Given the description of an element on the screen output the (x, y) to click on. 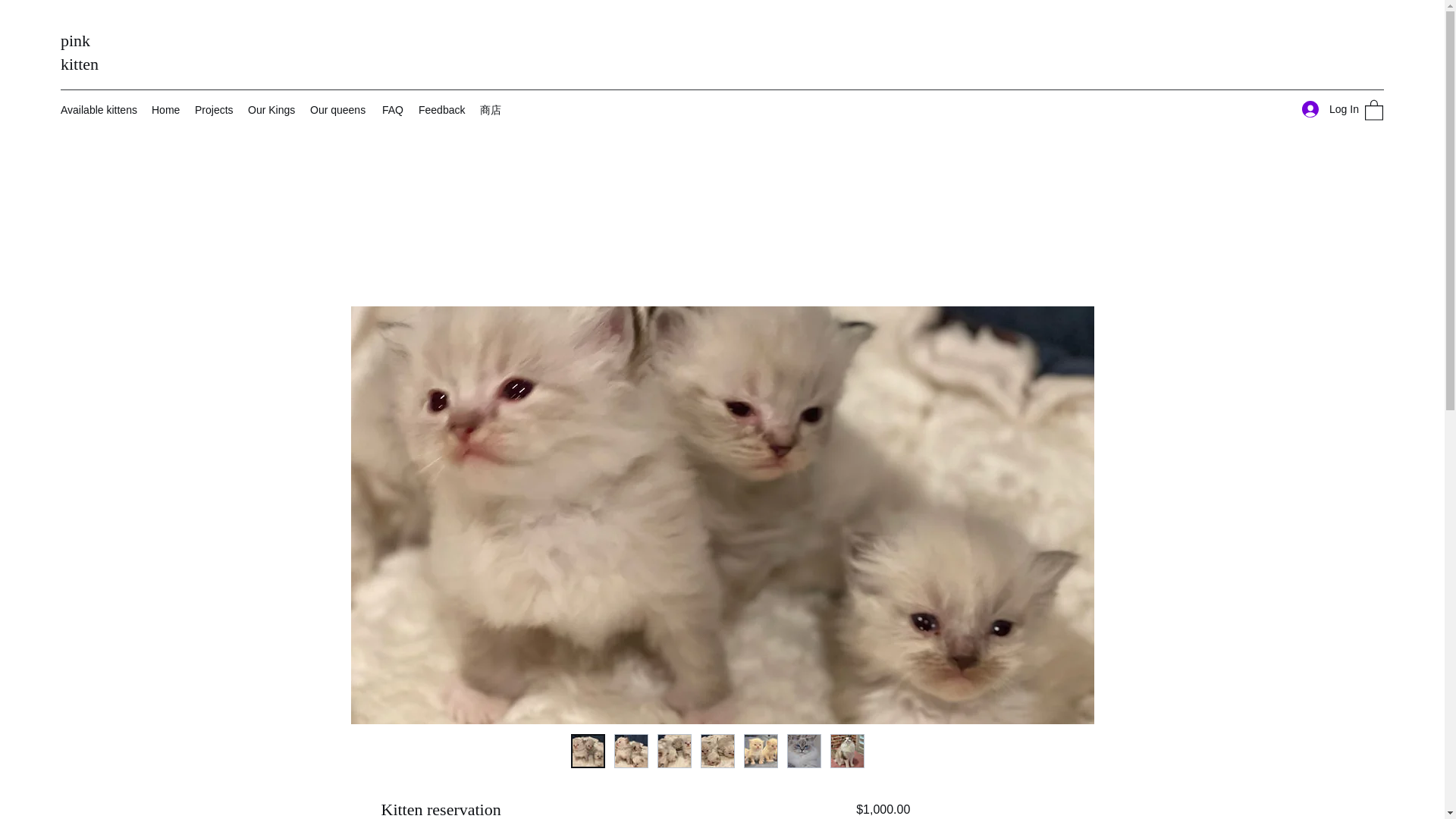
Home (165, 109)
Log In (1325, 109)
Available kittens (98, 109)
FAQ (392, 109)
Projects (213, 109)
Feedback (440, 109)
Our Kings (271, 109)
Our queens (338, 109)
pink kitten (80, 52)
